Given the description of an element on the screen output the (x, y) to click on. 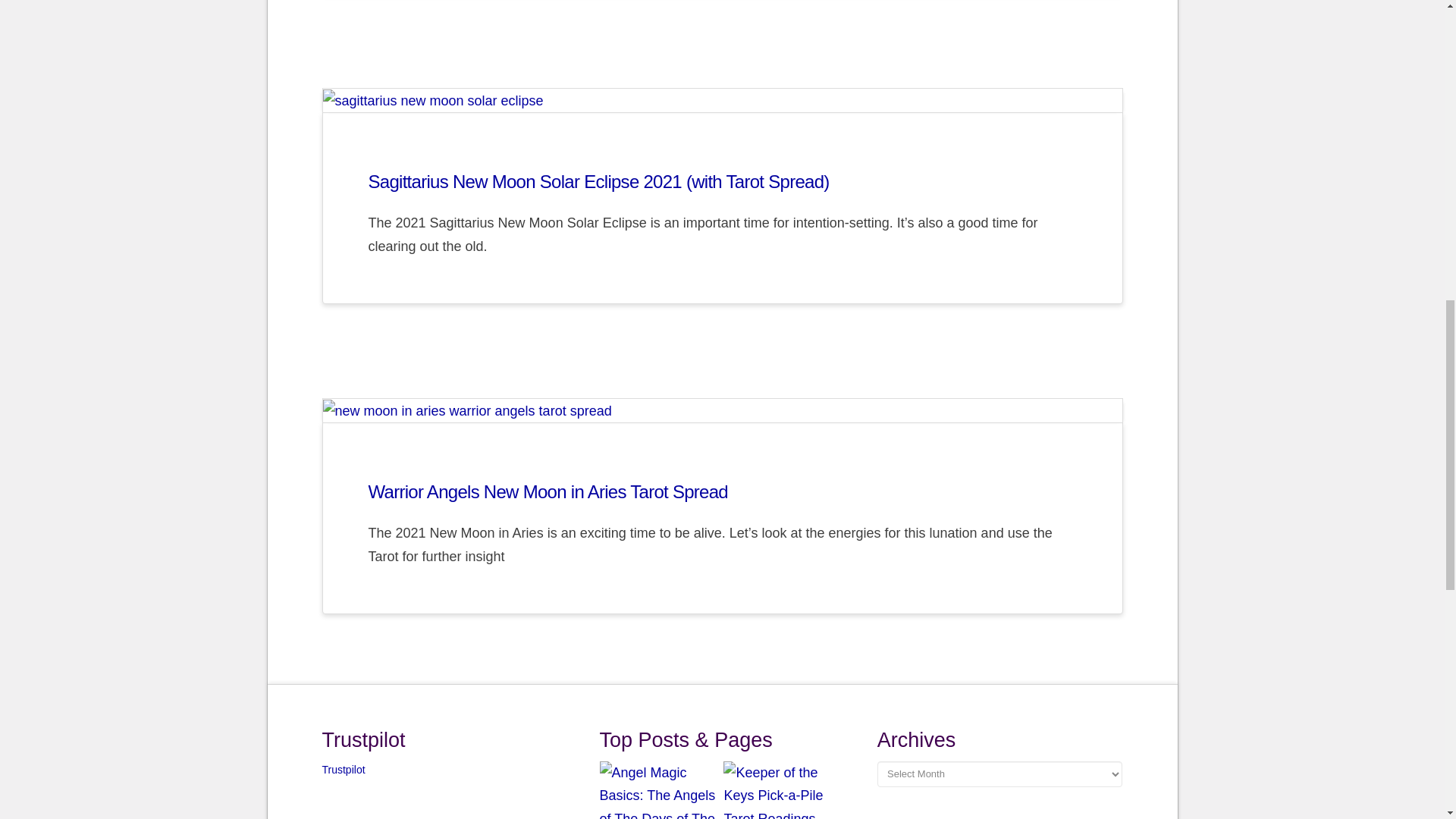
Angel Magic Basics: The Angels of The Days of The Week (659, 790)
Keeper of the Keys Pick-a-Pile Tarot Readings (783, 790)
